Given the description of an element on the screen output the (x, y) to click on. 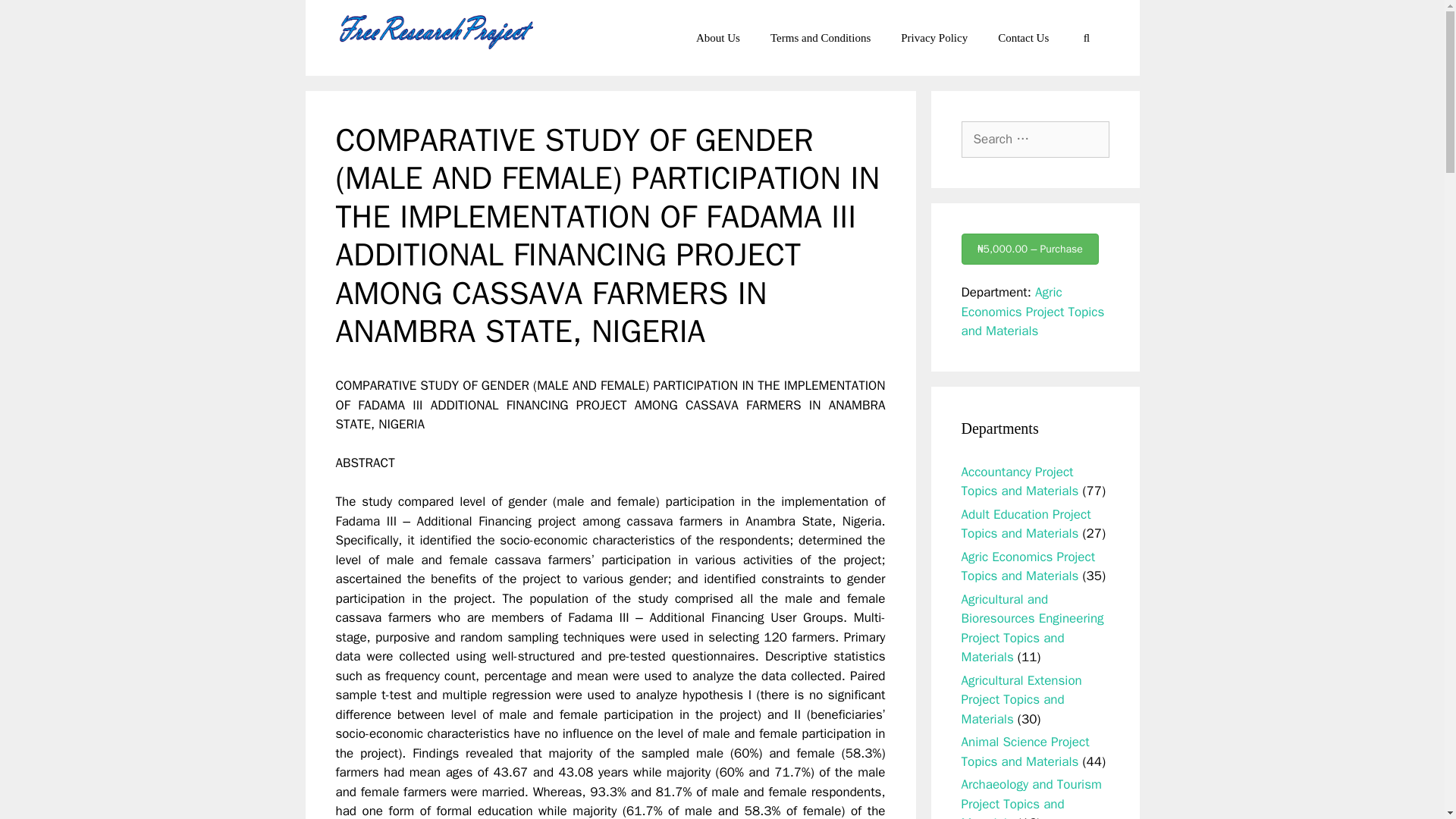
Privacy Policy (933, 37)
Contact Us (1023, 37)
Search (35, 18)
Adult Education Project Topics and Materials (1025, 524)
Animal Science Project Topics and Materials (1024, 751)
Agricultural Extension Project Topics and Materials (1020, 699)
Archaeology and Tourism Project Topics and Materials (1031, 797)
Accountancy Project Topics and Materials (1019, 481)
About Us (718, 37)
